Given the description of an element on the screen output the (x, y) to click on. 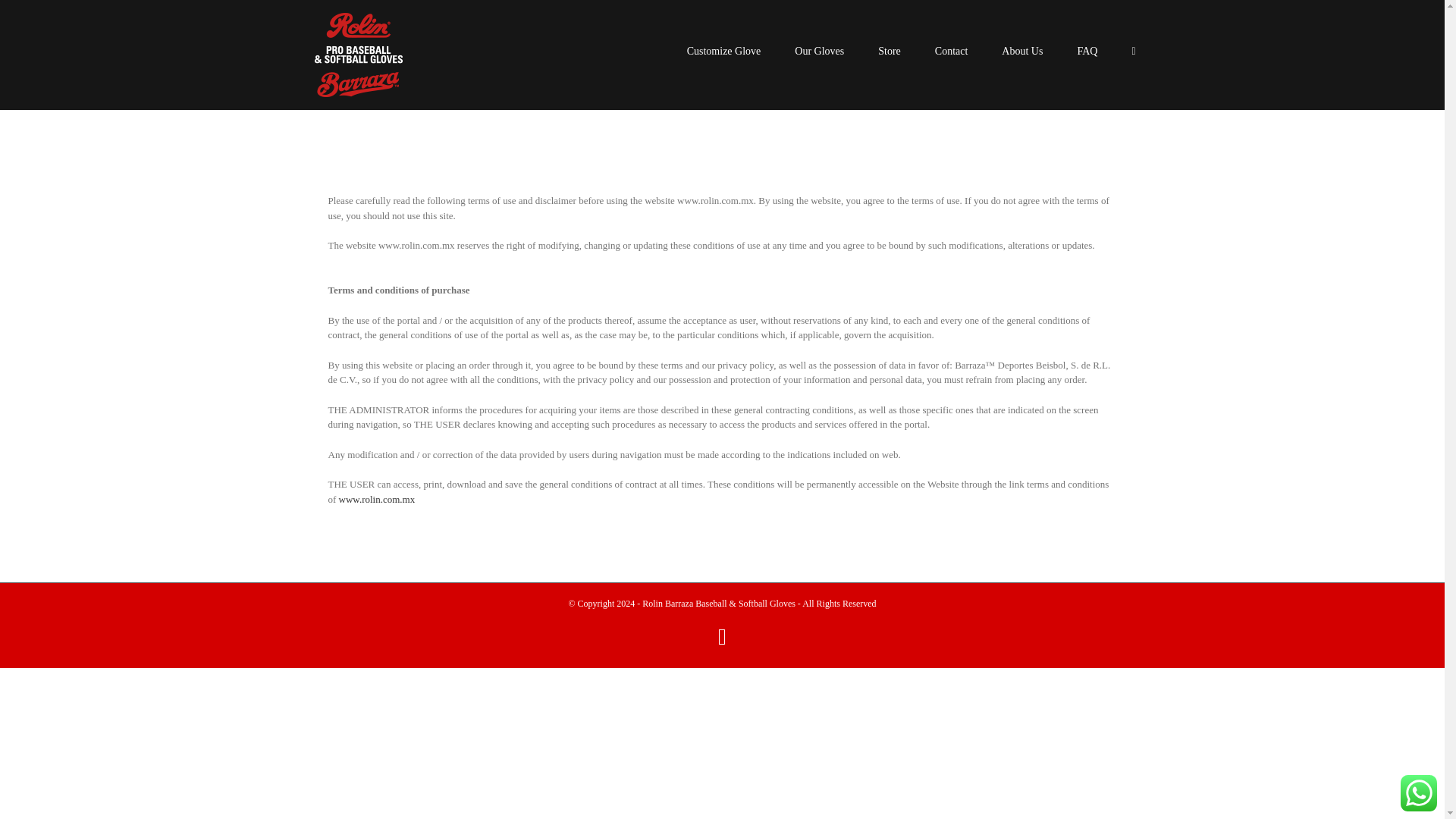
FAQ (1087, 49)
Customize Glove (724, 49)
www.rolin.com.mx (376, 498)
Contact (951, 49)
Our Gloves (819, 49)
Store (889, 49)
Instagram (721, 636)
About Us (1021, 49)
